Given the description of an element on the screen output the (x, y) to click on. 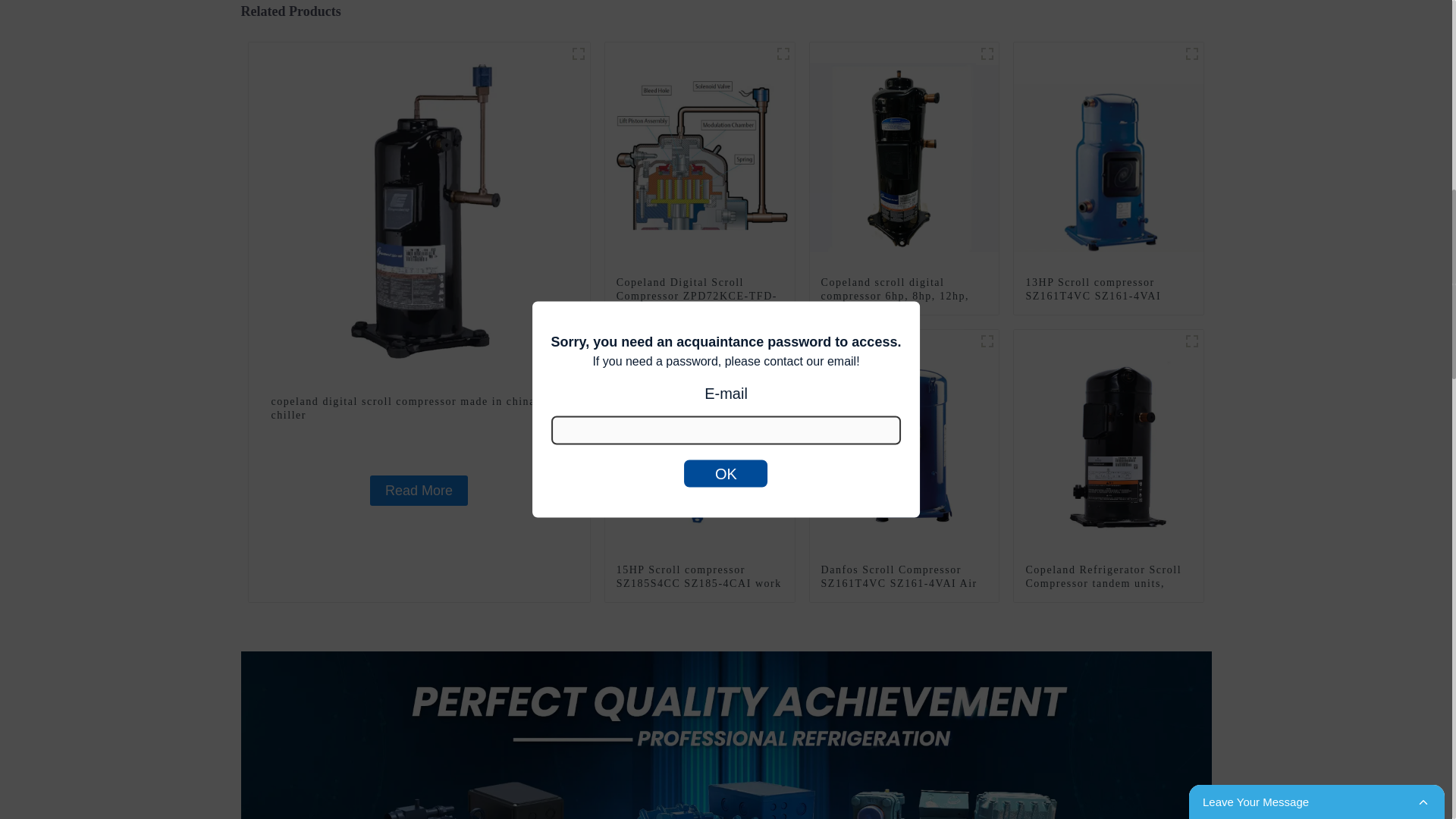
copeland digital scroll compressor made in china for chiller (418, 408)
13HP Scroll compressor SZ161T4VC SZ161-4VAI (1108, 155)
15HP Scroll compressor SZ185S4CC SZ185-4CAI work for R407c (699, 443)
Copeland Digital Scroll Compressor ZPD72KCE-TFD-433 Sale (699, 155)
2-3 (578, 53)
2-8 (1192, 53)
Read More (418, 490)
